Given the description of an element on the screen output the (x, y) to click on. 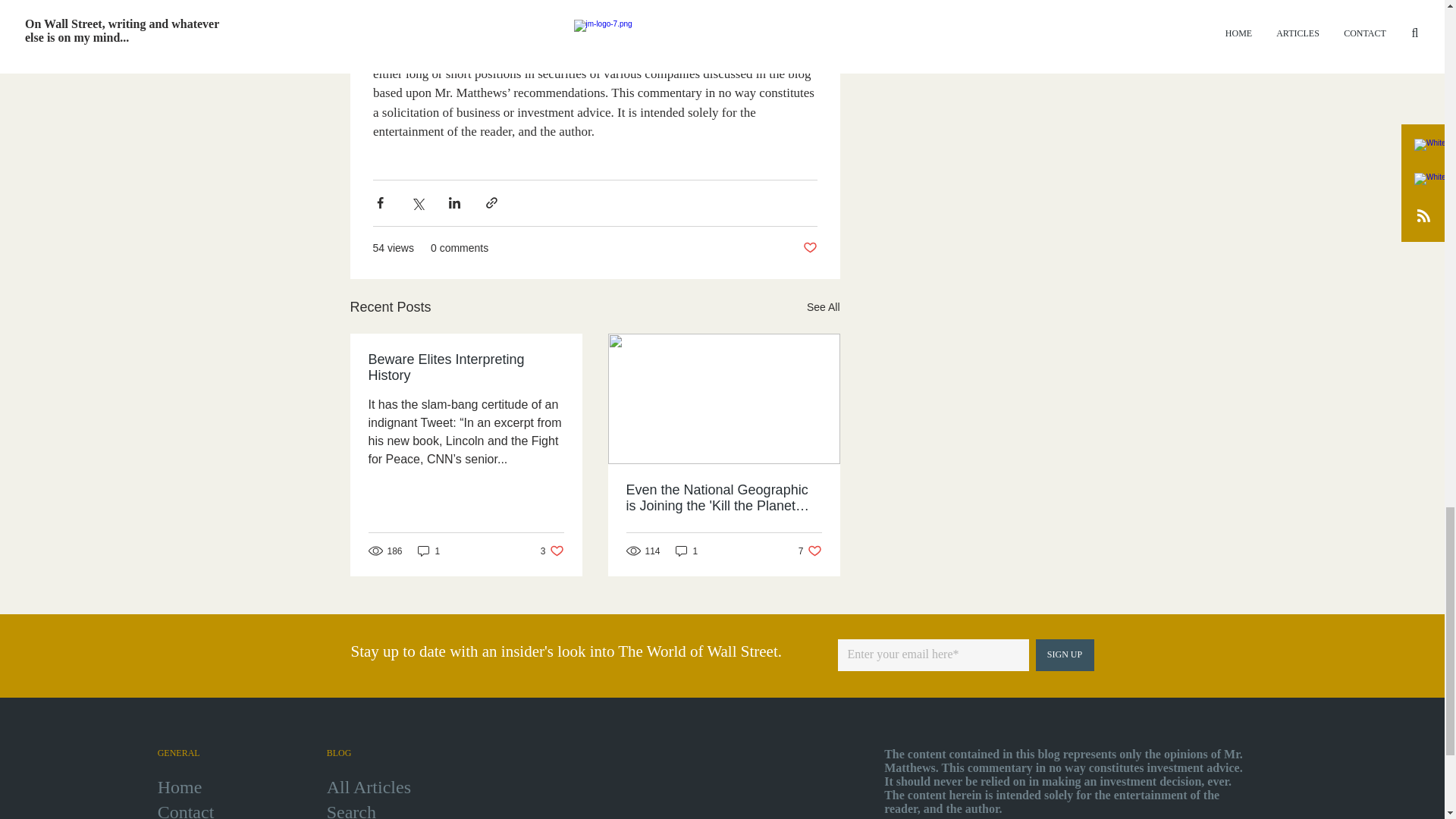
See All (823, 306)
Contact (552, 550)
SIGN UP (185, 810)
1 (1064, 654)
Post not marked as liked (809, 550)
Search (429, 550)
All Articles (809, 247)
